Given the description of an element on the screen output the (x, y) to click on. 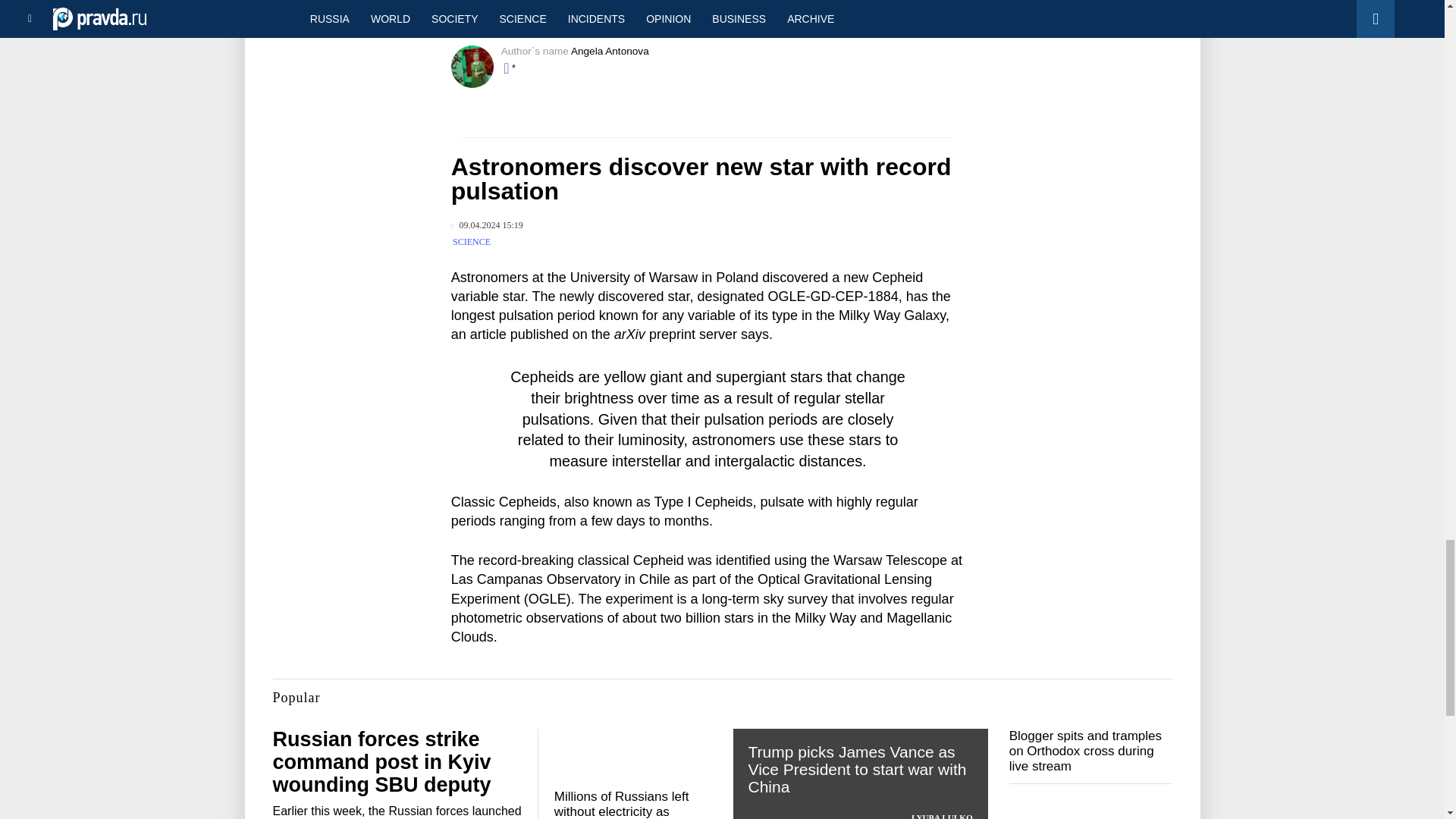
Facebook (744, 14)
Telegram channel (652, 14)
Published (486, 225)
RSS (795, 14)
Angela Antonova (609, 50)
